Given the description of an element on the screen output the (x, y) to click on. 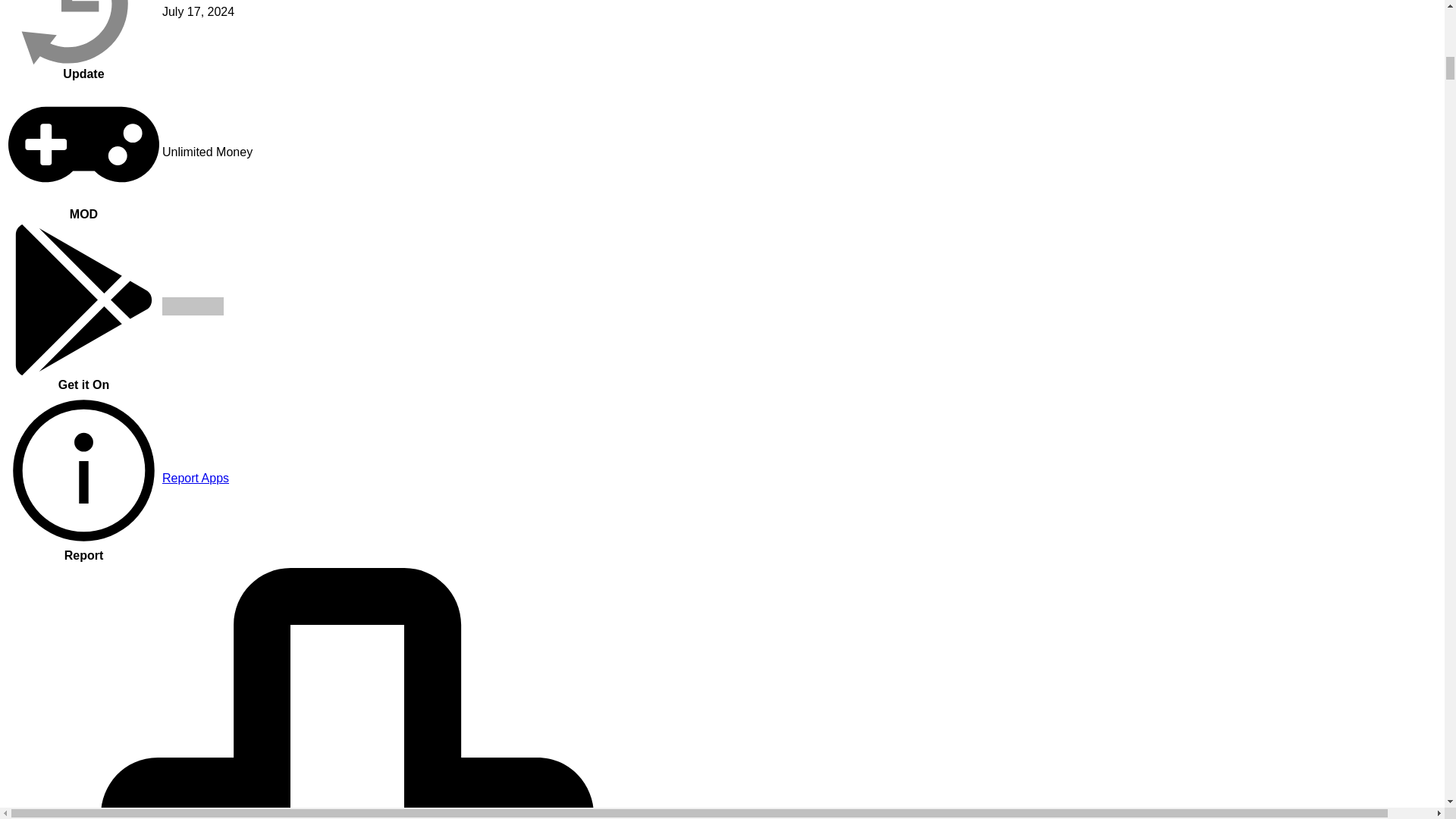
Report Apps (194, 477)
